Given the description of an element on the screen output the (x, y) to click on. 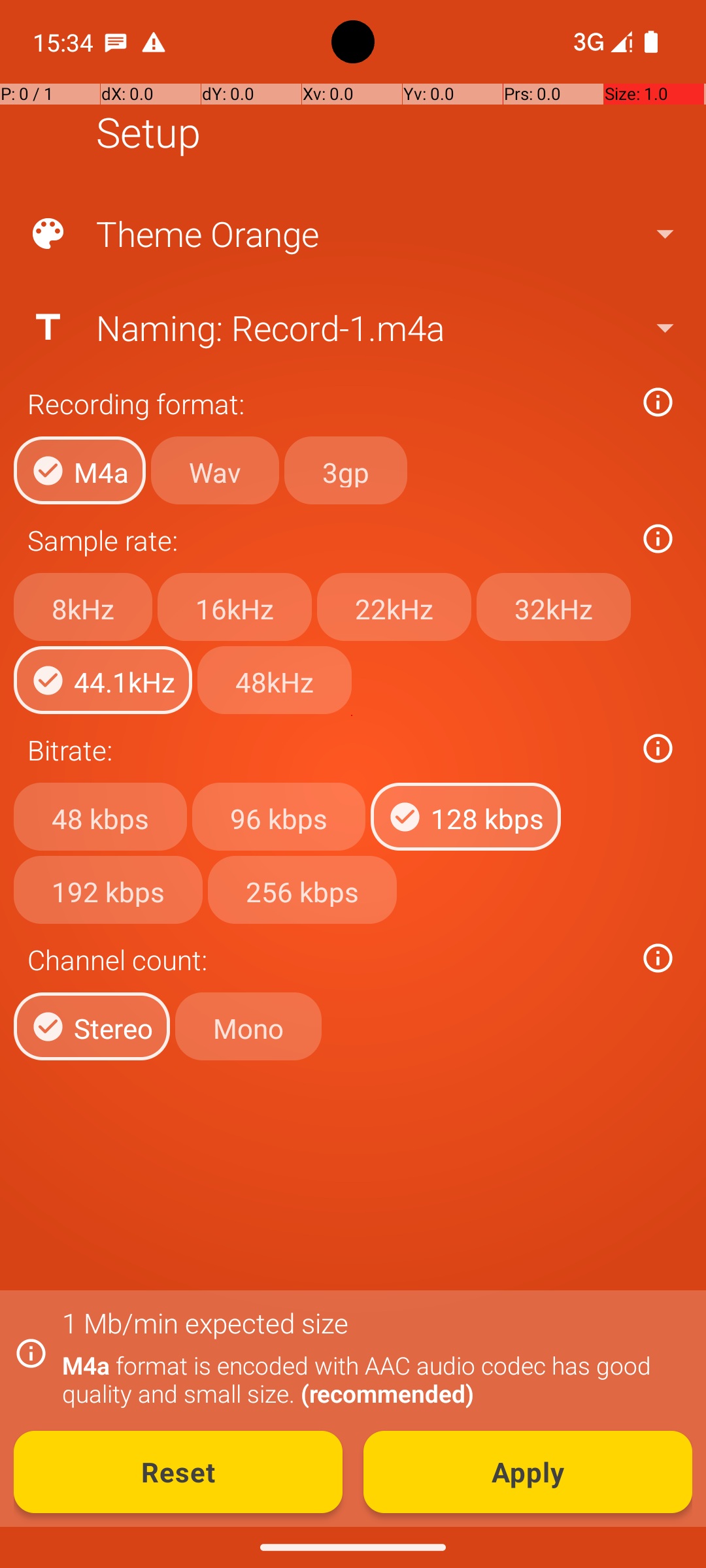
1 Mb/min expected size Element type: android.widget.TextView (205, 1322)
M4a format is encoded with AAC audio codec has good quality and small size. (recommended) Element type: android.widget.TextView (370, 1378)
Reset Element type: android.widget.Button (177, 1471)
Apply Element type: android.widget.Button (527, 1471)
Setup Element type: android.widget.TextView (148, 131)
Recording format: Element type: android.widget.TextView (325, 403)
M4a Element type: android.widget.TextView (79, 470)
Wav Element type: android.widget.TextView (215, 470)
3gp Element type: android.widget.TextView (345, 470)
Sample rate: Element type: android.widget.TextView (325, 539)
44.1kHz Element type: android.widget.TextView (102, 680)
16kHz Element type: android.widget.TextView (234, 606)
22kHz Element type: android.widget.TextView (394, 606)
32kHz Element type: android.widget.TextView (553, 606)
48kHz Element type: android.widget.TextView (274, 680)
8kHz Element type: android.widget.TextView (82, 606)
Bitrate: Element type: android.widget.TextView (325, 749)
128 kbps Element type: android.widget.TextView (465, 816)
192 kbps Element type: android.widget.TextView (107, 889)
256 kbps Element type: android.widget.TextView (301, 889)
48 kbps Element type: android.widget.TextView (99, 816)
96 kbps Element type: android.widget.TextView (278, 816)
Channel count: Element type: android.widget.TextView (325, 959)
Stereo Element type: android.widget.TextView (91, 1026)
Mono Element type: android.widget.TextView (248, 1026)
Theme Orange Element type: android.widget.TextView (352, 233)
Naming: Record-1.m4a Element type: android.widget.TextView (352, 327)
15:34 Element type: android.widget.TextView (64, 41)
SMS Messenger notification:  Element type: android.widget.ImageView (115, 41)
Android System notification: Data warning Element type: android.widget.ImageView (153, 41)
Phone three bars. Element type: android.widget.FrameLayout (600, 41)
Battery 100 percent. Element type: android.widget.LinearLayout (650, 41)
No internet Element type: android.widget.ImageView (587, 41)
